Given the description of an element on the screen output the (x, y) to click on. 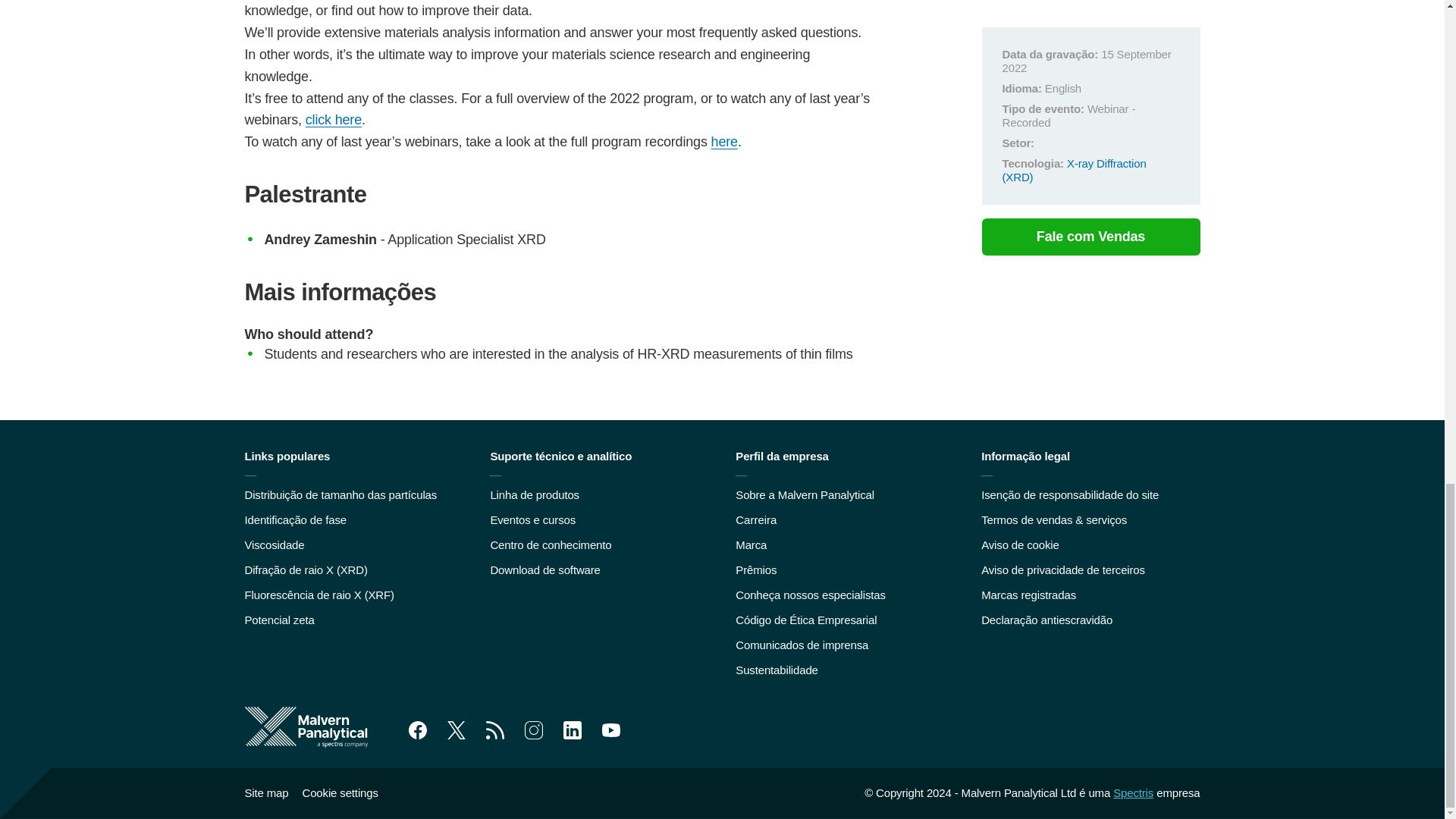
Eventos e cursos (532, 519)
Centro de conhecimento (550, 544)
Ask an expert  (724, 141)
Marca (751, 544)
Linha de produtos (534, 494)
here (724, 141)
Sobre a Malvern Panalytical (805, 494)
Comunicados de imprensa (801, 644)
Ask an expert  (333, 119)
click here (333, 119)
